Given the description of an element on the screen output the (x, y) to click on. 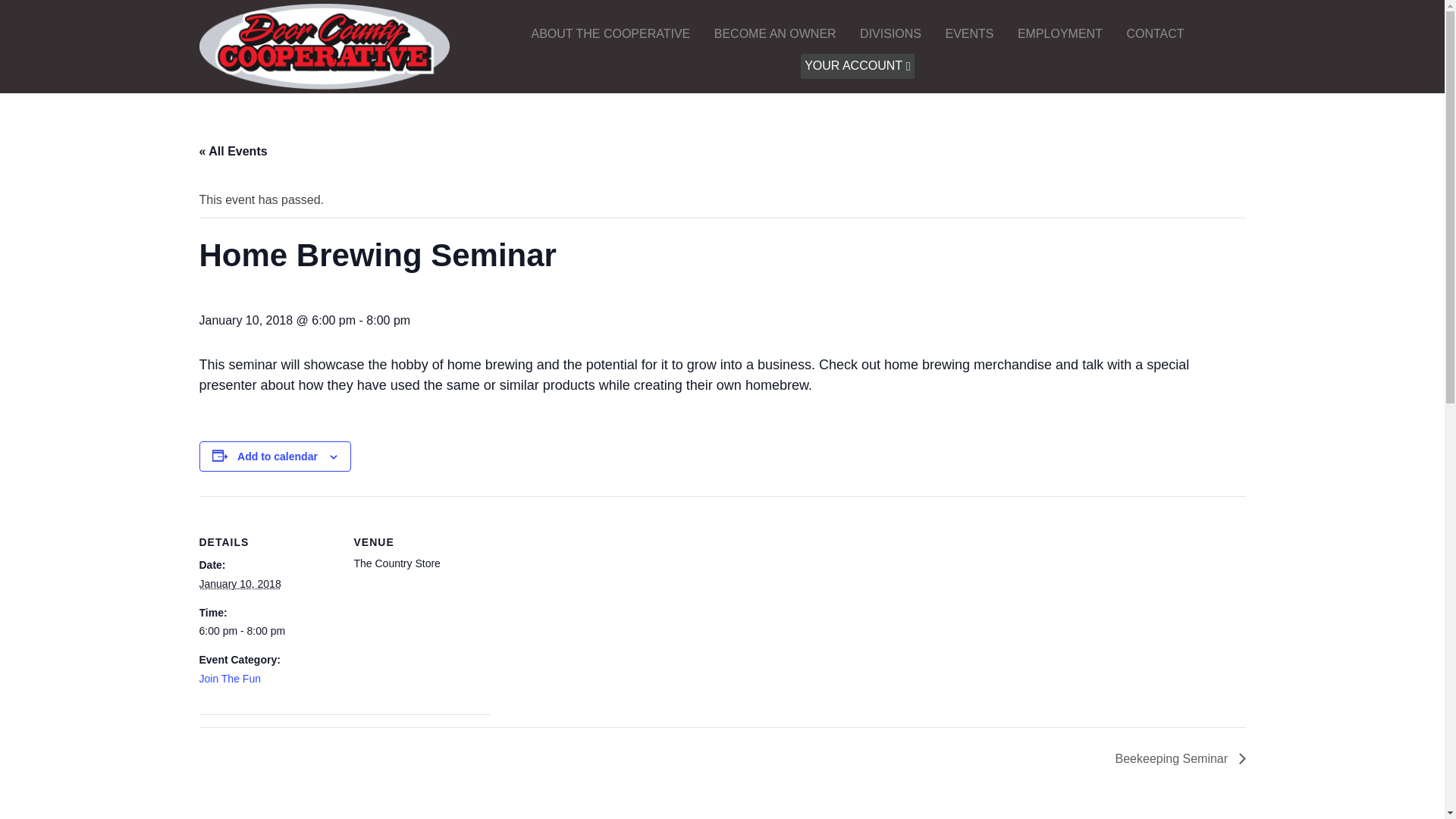
CONTACT (1155, 34)
BECOME AN OWNER (775, 34)
Beekeeping Seminar (1176, 758)
EVENTS (968, 34)
Add to calendar (277, 456)
2018-01-10 (239, 583)
YOUR ACCOUNT (857, 66)
DIVISIONS (890, 34)
Join The Fun (229, 678)
EMPLOYMENT (1059, 34)
